Given the description of an element on the screen output the (x, y) to click on. 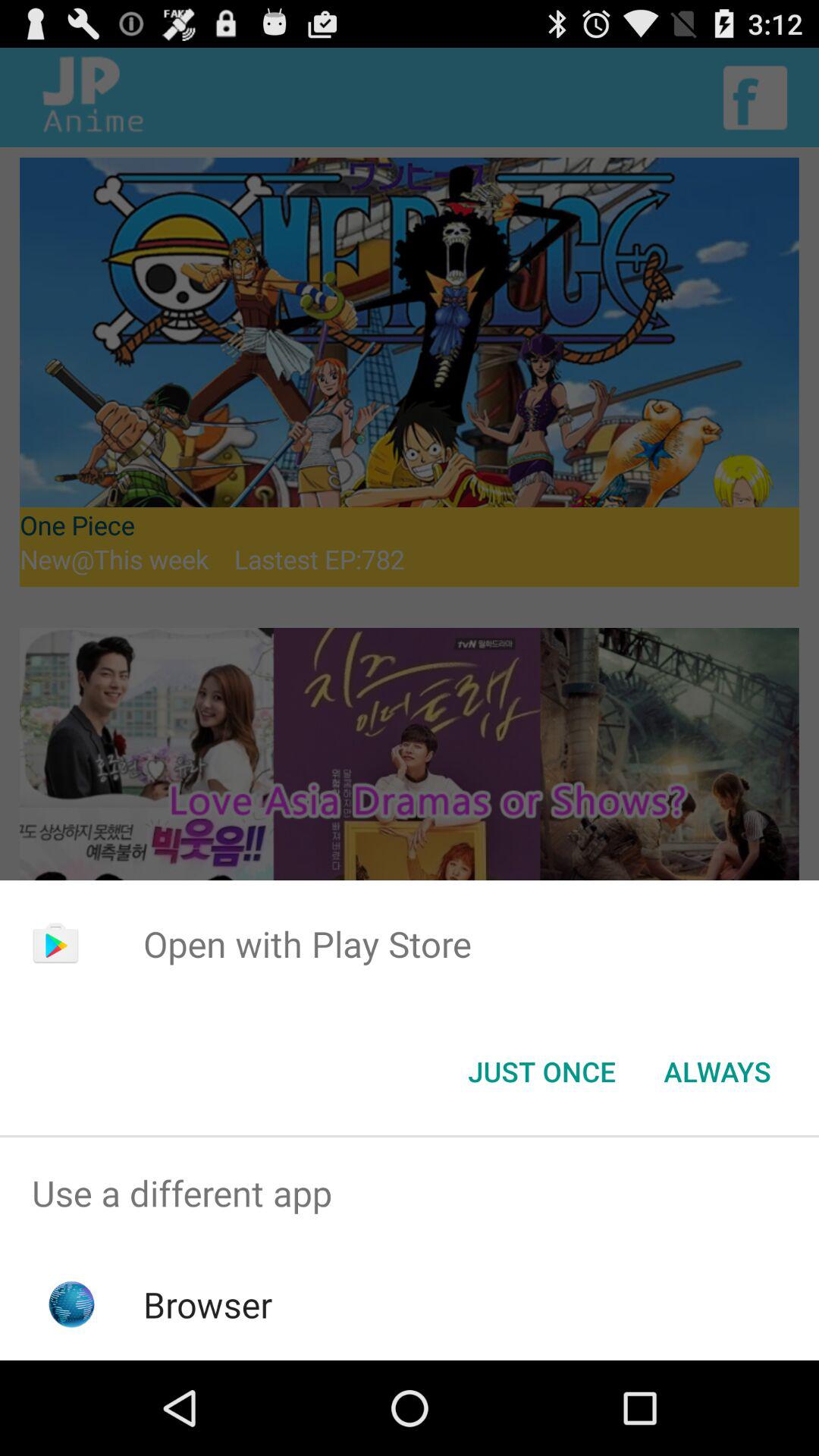
choose use a different (409, 1192)
